Given the description of an element on the screen output the (x, y) to click on. 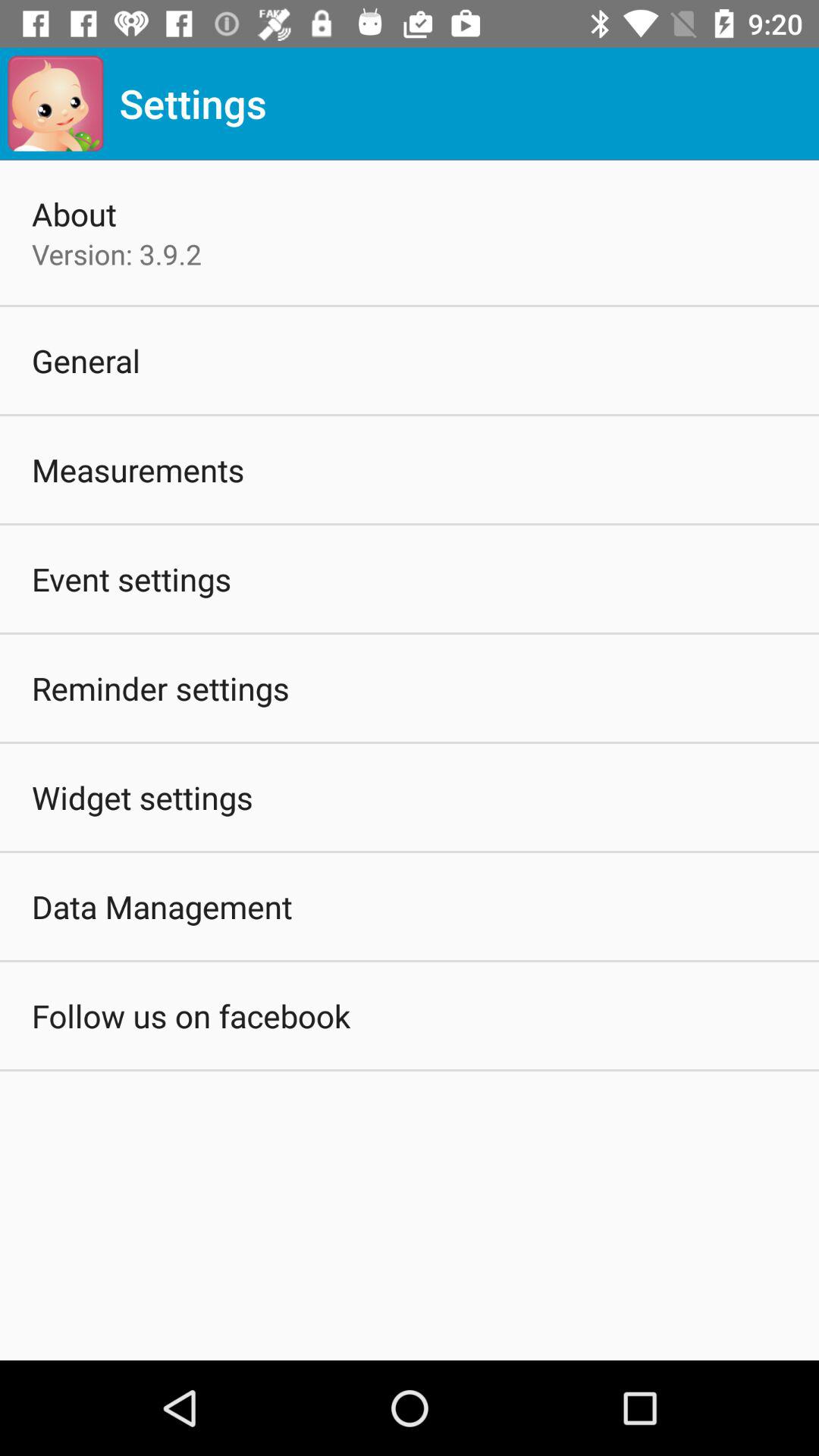
launch icon above the measurements item (85, 360)
